Given the description of an element on the screen output the (x, y) to click on. 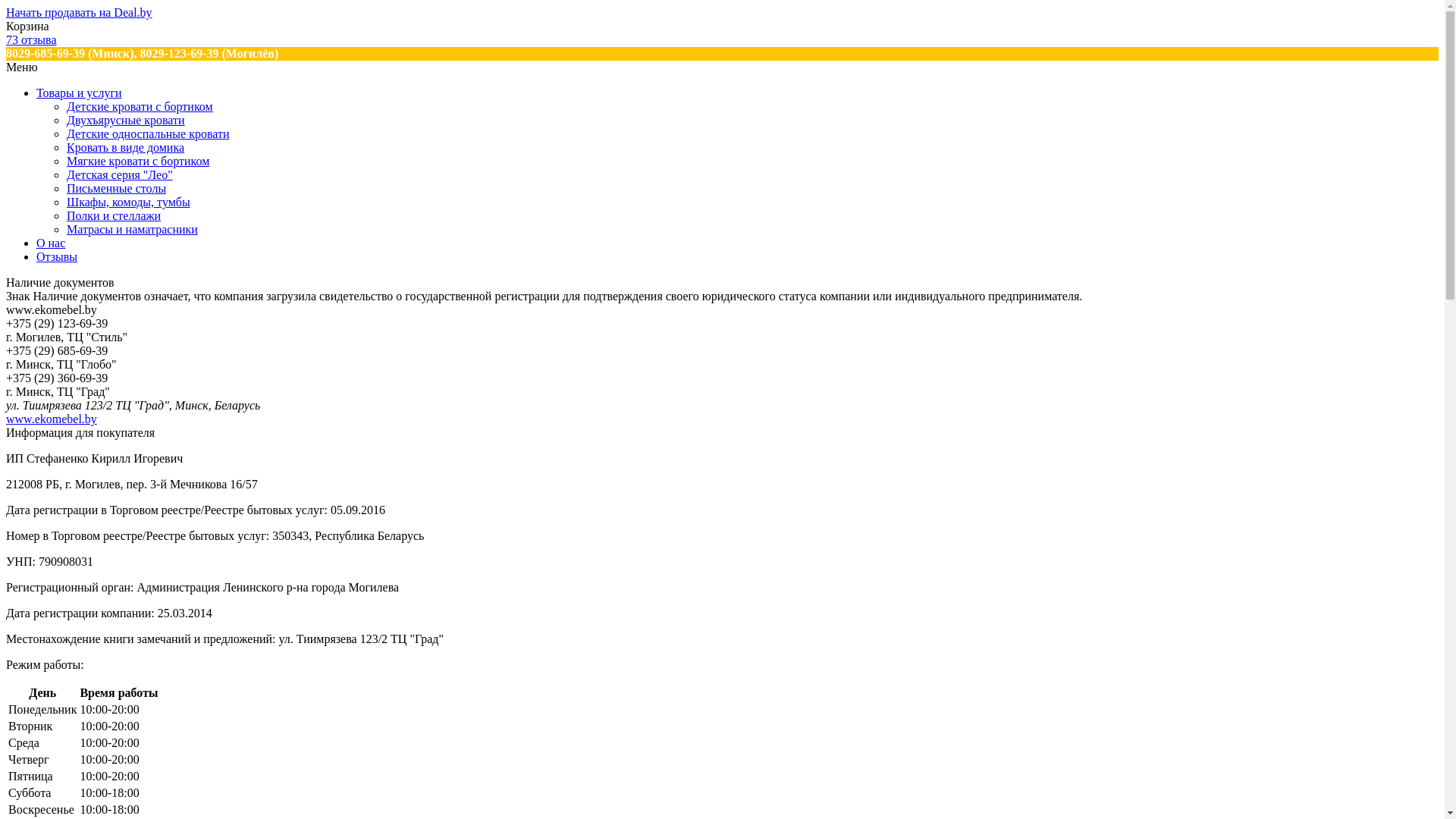
www.ekomebel.by Element type: text (51, 418)
